Given the description of an element on the screen output the (x, y) to click on. 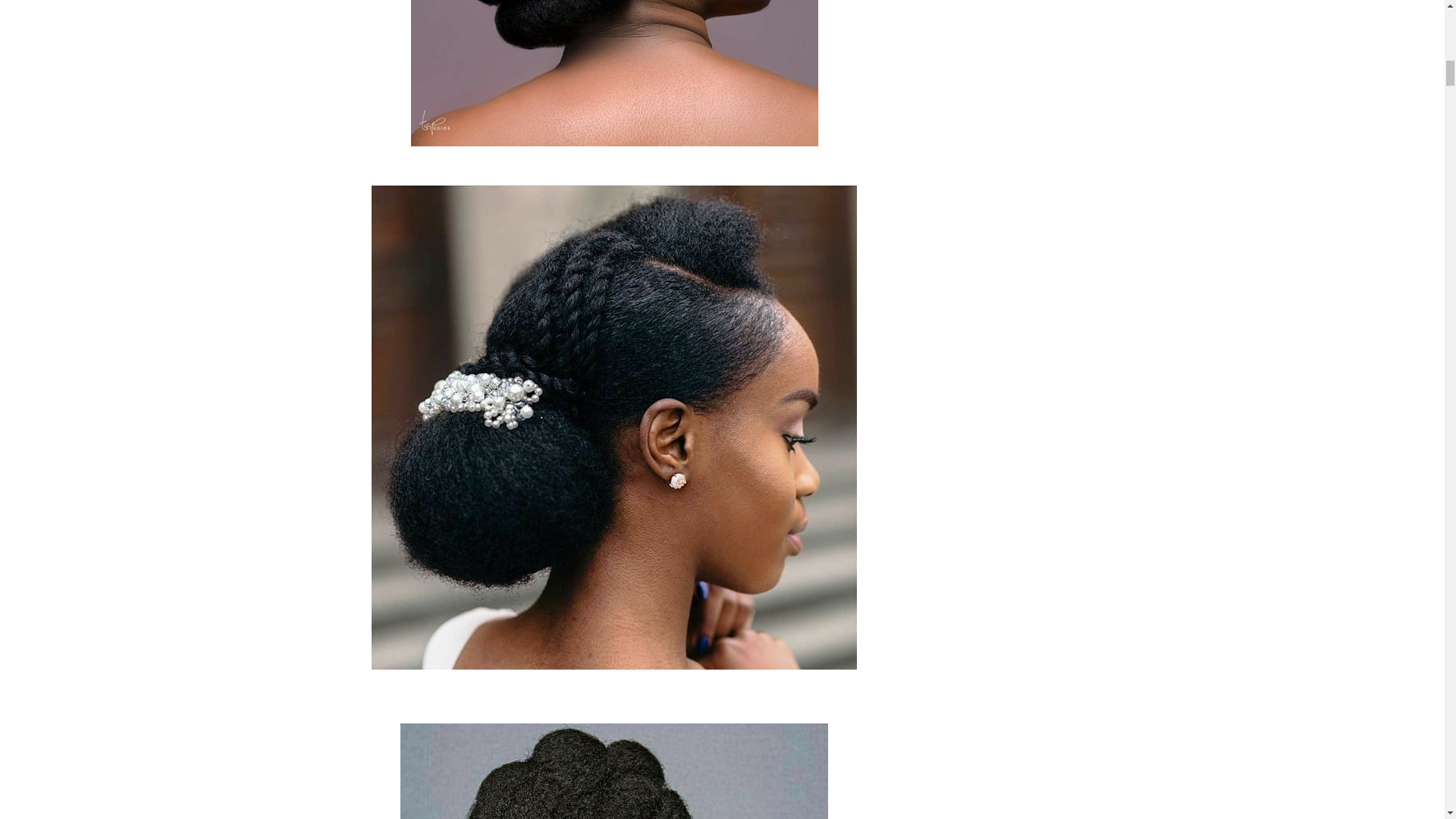
You Will Meet The Coolest Model Of Braided Hairstyle 1 (614, 73)
